Given the description of an element on the screen output the (x, y) to click on. 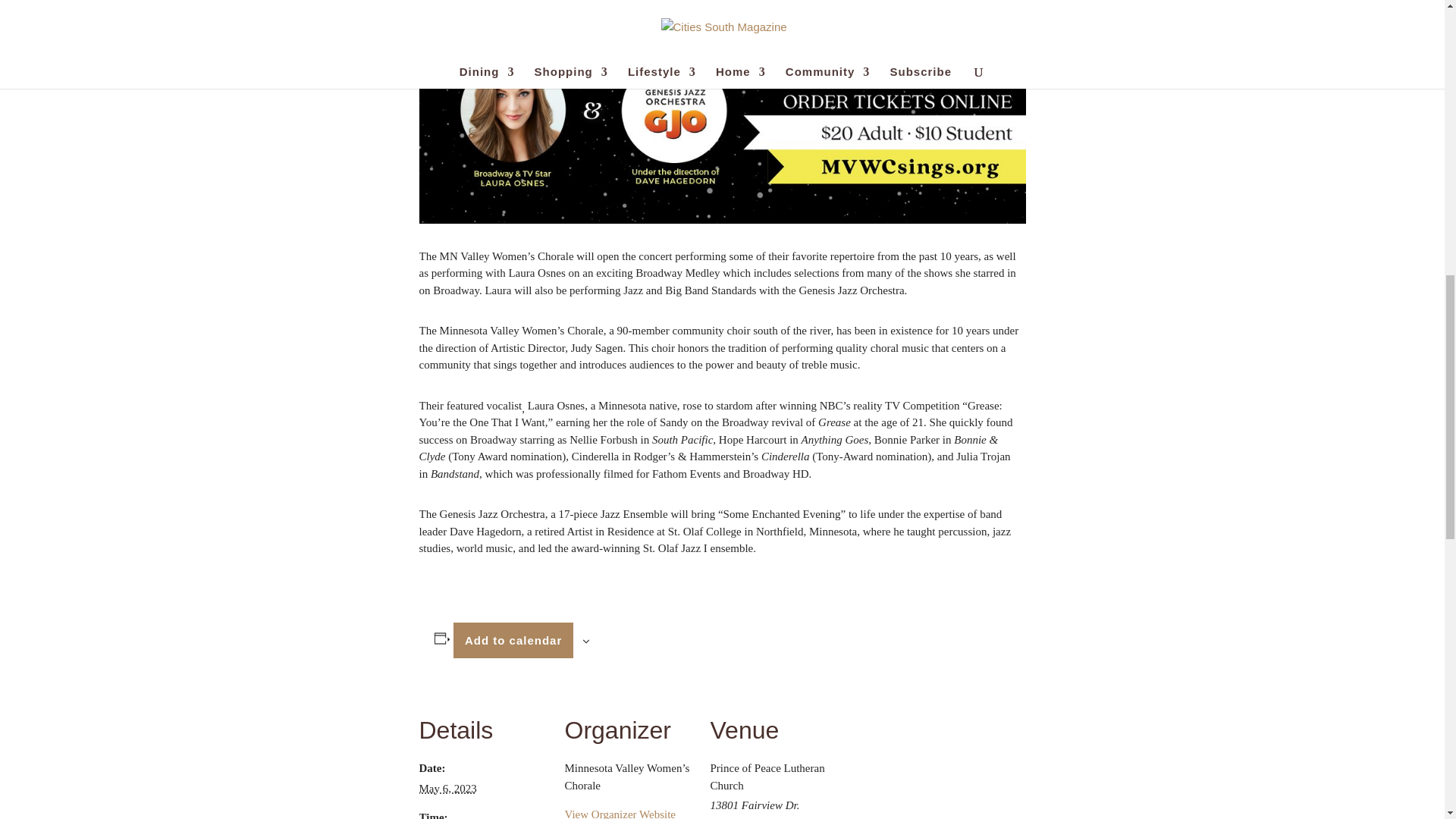
2023-05-06 (447, 788)
Click to view a Google Map (765, 817)
Minnesota (771, 817)
